Given the description of an element on the screen output the (x, y) to click on. 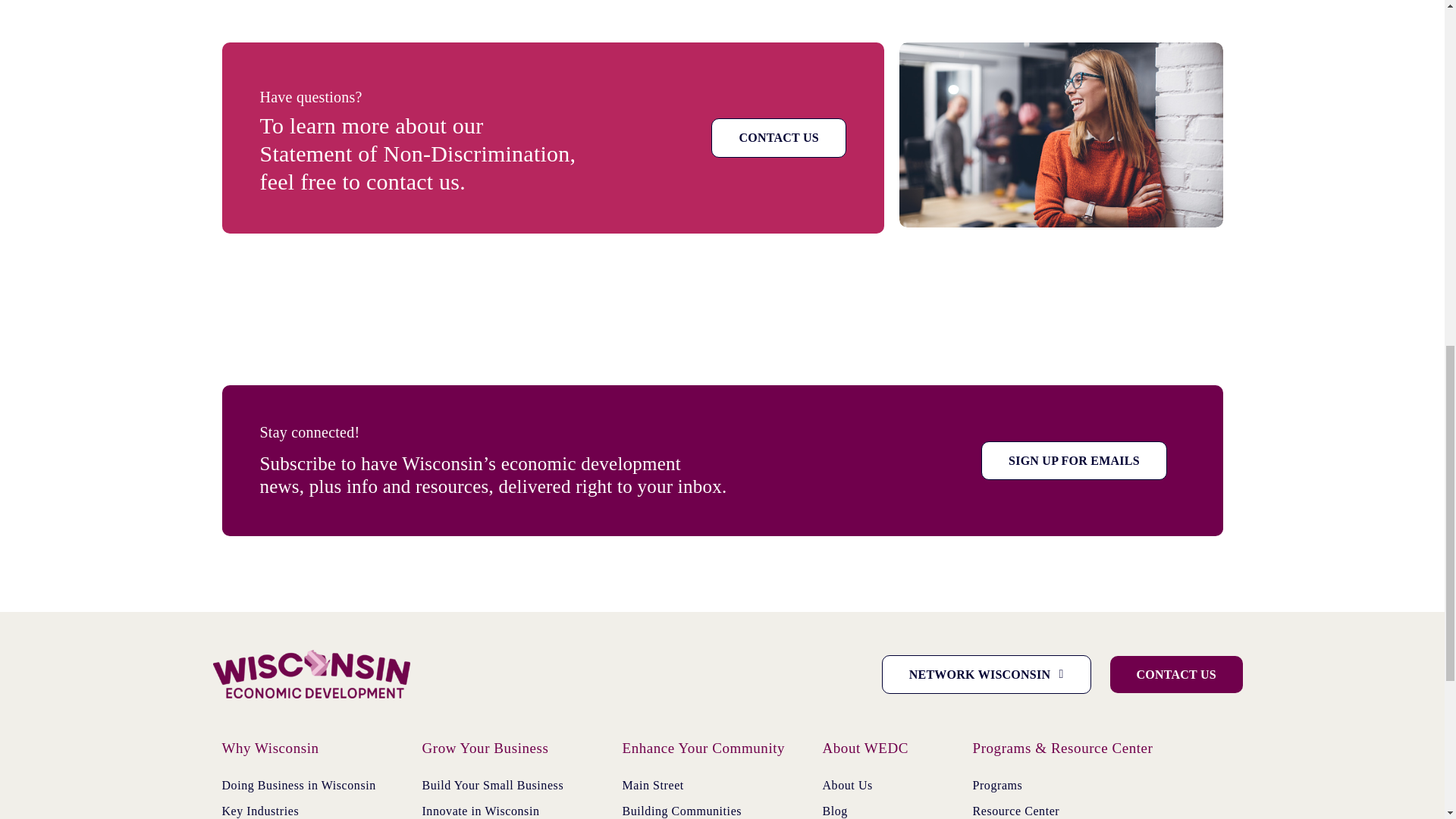
Contact Us (1176, 674)
gettyimages-629667248-170667a (1061, 134)
Contact Us (778, 137)
Sign Up For Emails (1074, 460)
Network Wisconsin (986, 674)
